Given the description of an element on the screen output the (x, y) to click on. 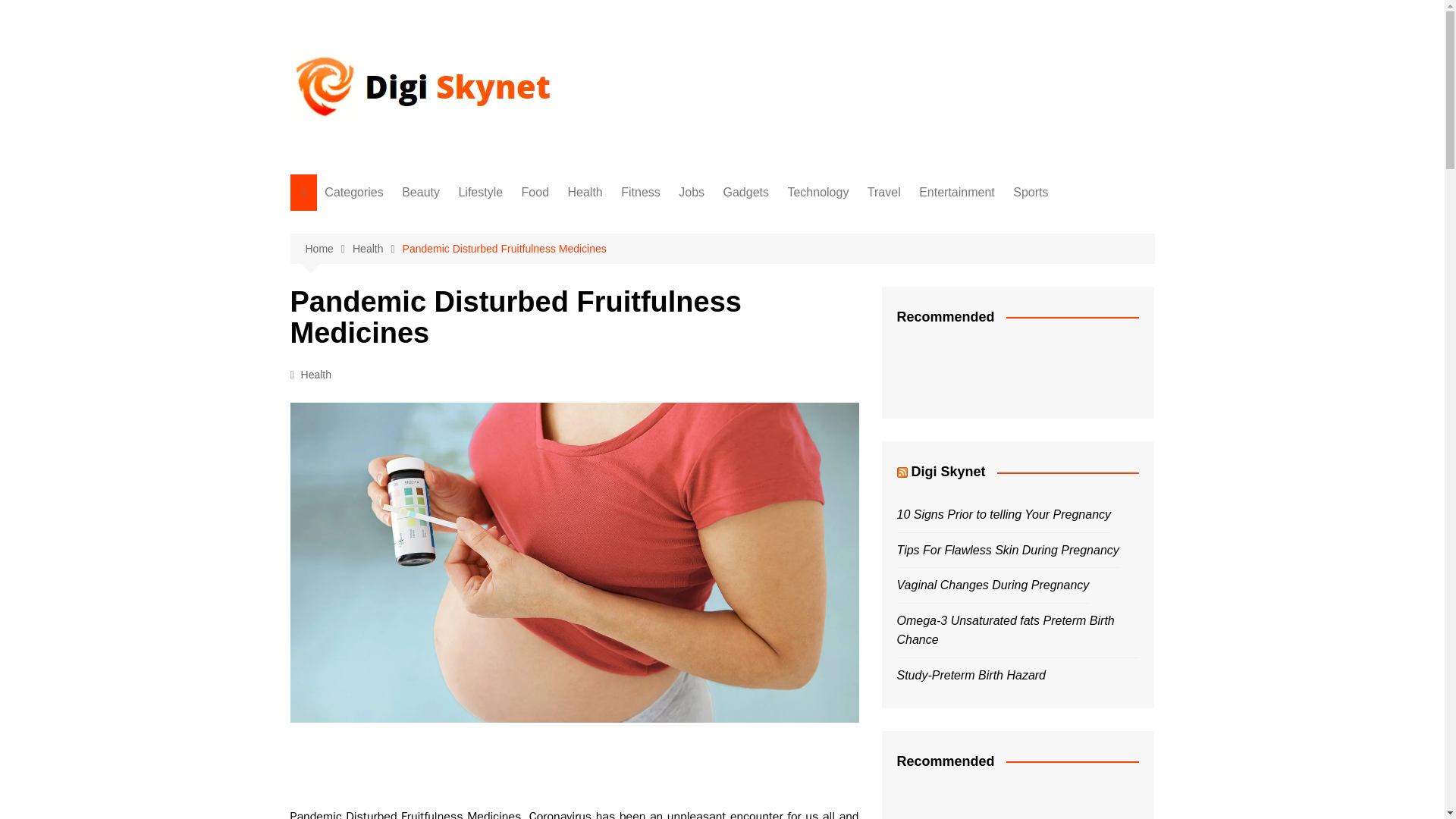
Food (534, 192)
Sports (1030, 192)
Gadgets (400, 398)
Gadgets (746, 192)
Food (400, 273)
Make Money Online (400, 548)
Home (328, 248)
Beauty (400, 222)
Travel (884, 192)
Technology (817, 192)
Technology (400, 423)
Travel (400, 448)
Jobs (691, 192)
Health (585, 192)
Lifestyle (480, 192)
